Given the description of an element on the screen output the (x, y) to click on. 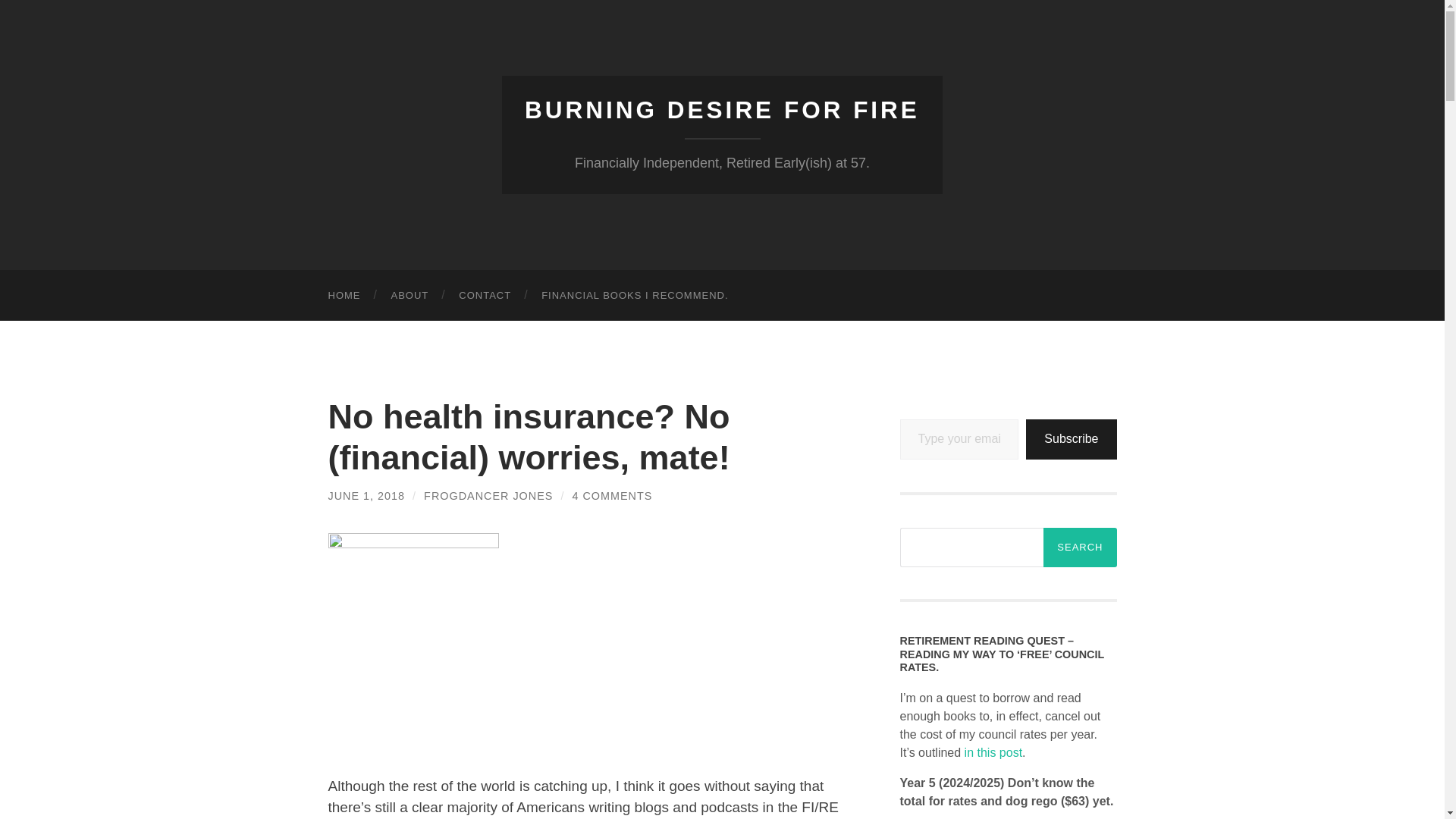
CONTACT (484, 295)
Posts by Frogdancer Jones (488, 495)
FINANCIAL BOOKS I RECOMMEND. (633, 295)
ABOUT (409, 295)
BURNING DESIRE FOR FIRE (722, 109)
Search (1079, 547)
4 COMMENTS (612, 495)
Please fill in this field. (958, 439)
JUNE 1, 2018 (365, 495)
Subscribe (1071, 439)
FROGDANCER JONES (488, 495)
Search (1079, 547)
HOME (344, 295)
